Given the description of an element on the screen output the (x, y) to click on. 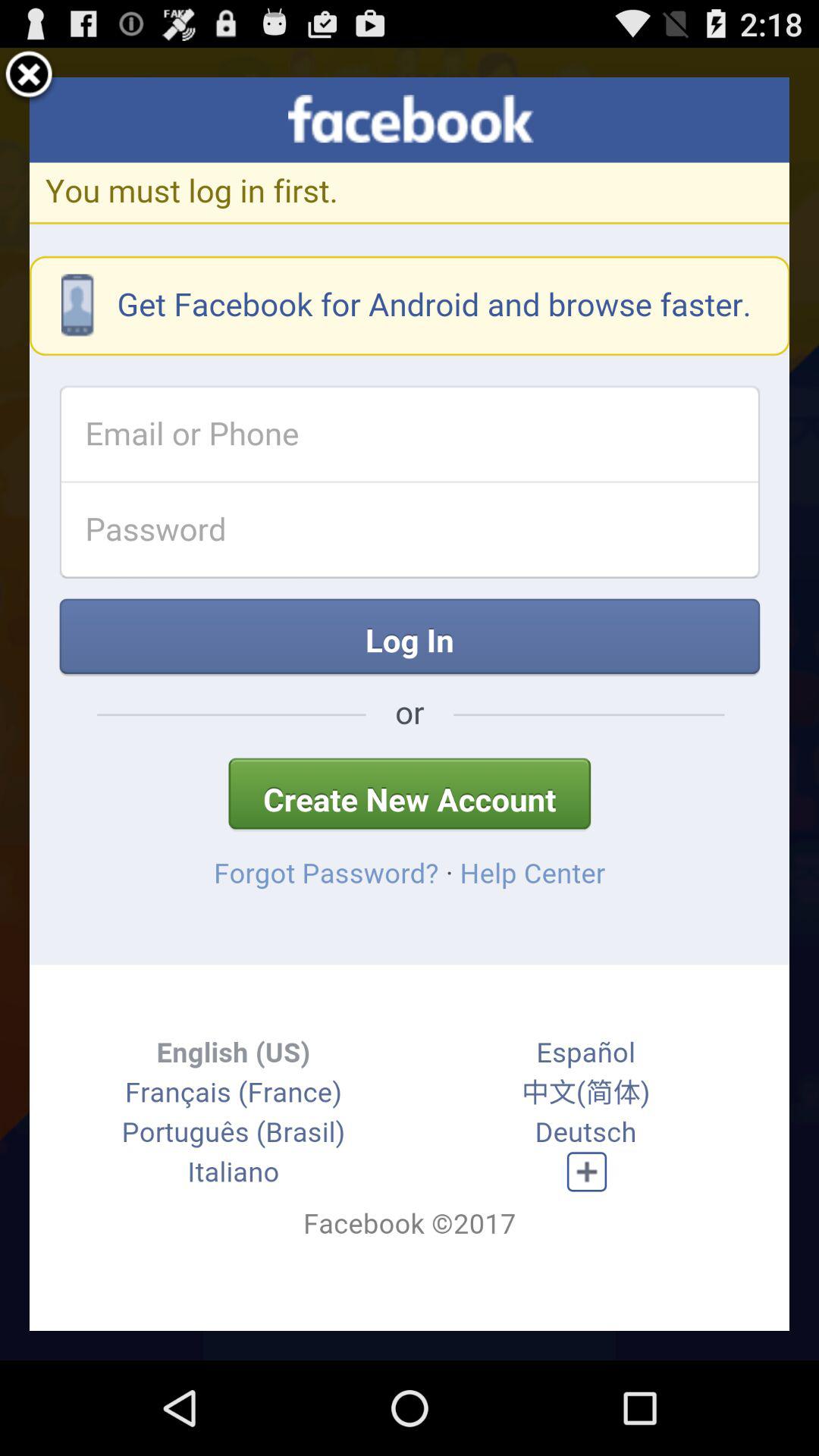
close the page (29, 76)
